Given the description of an element on the screen output the (x, y) to click on. 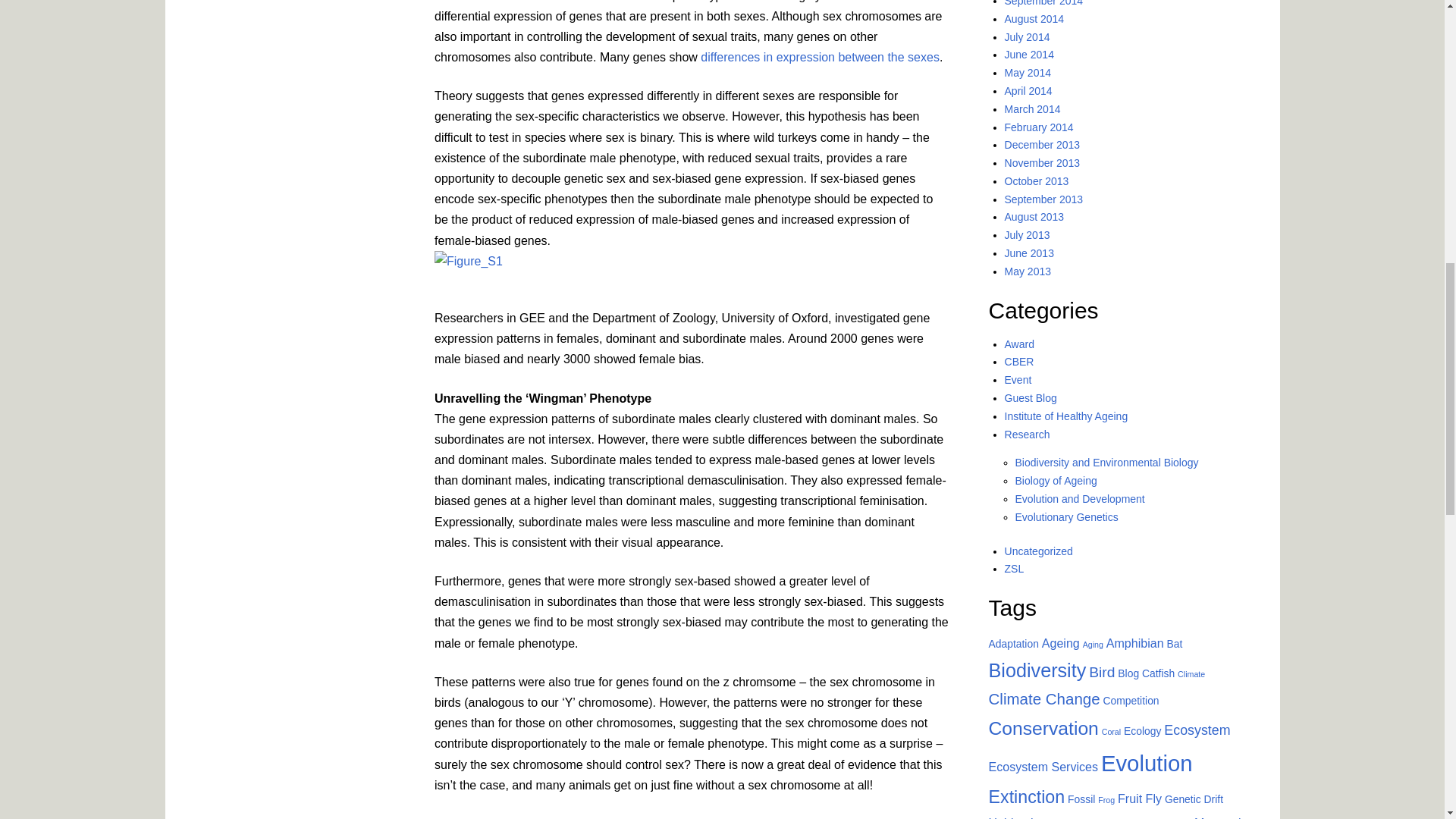
differences in expression between the sexes (819, 56)
